Given the description of an element on the screen output the (x, y) to click on. 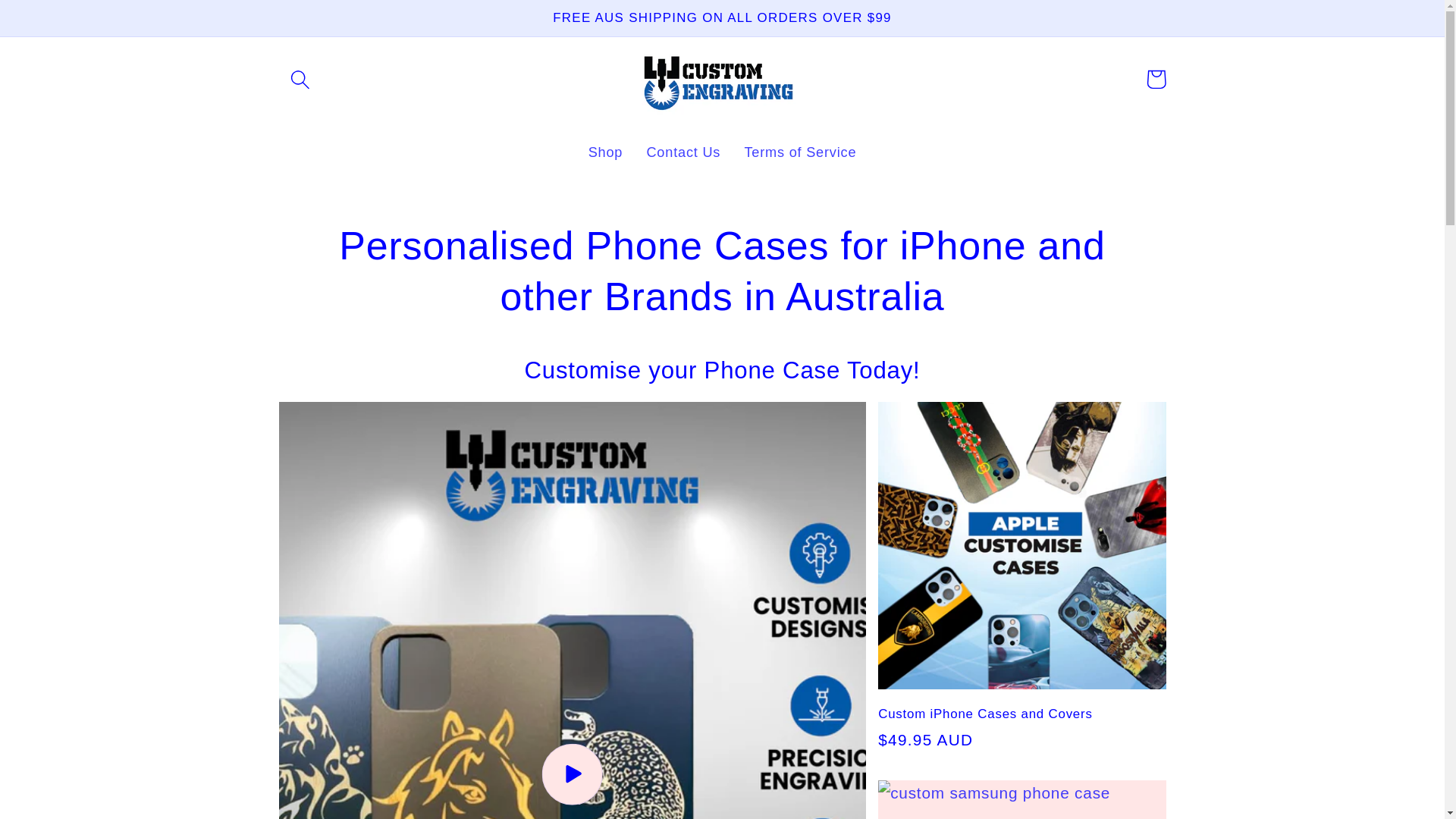
Shop (605, 151)
Terms of Service (799, 151)
Custom iPhone Cases and Covers (1021, 713)
Contact Us (683, 151)
Cart (1155, 78)
Skip to content (59, 22)
